Given the description of an element on the screen output the (x, y) to click on. 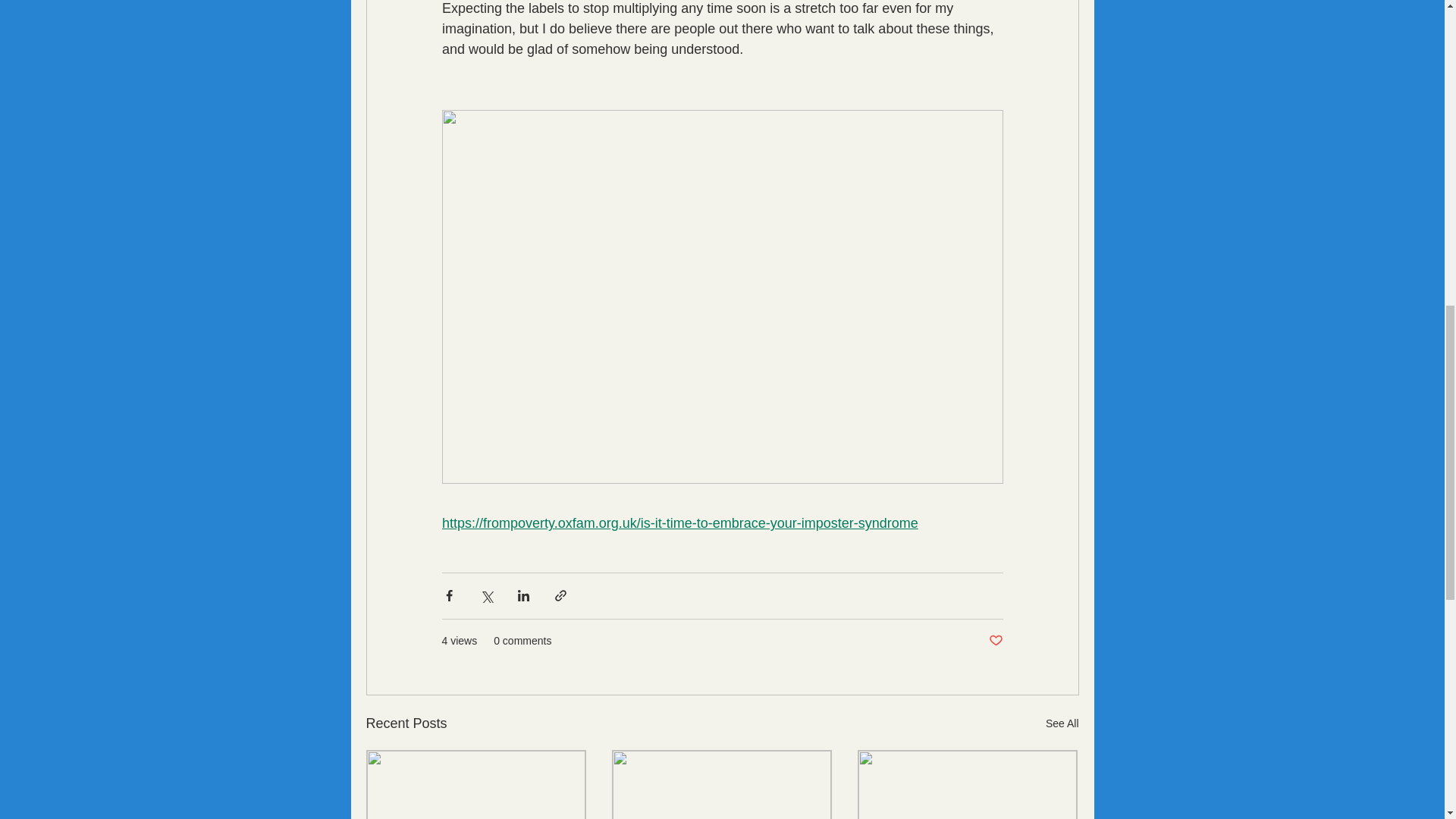
See All (1061, 723)
Post not marked as liked (995, 640)
